Given the description of an element on the screen output the (x, y) to click on. 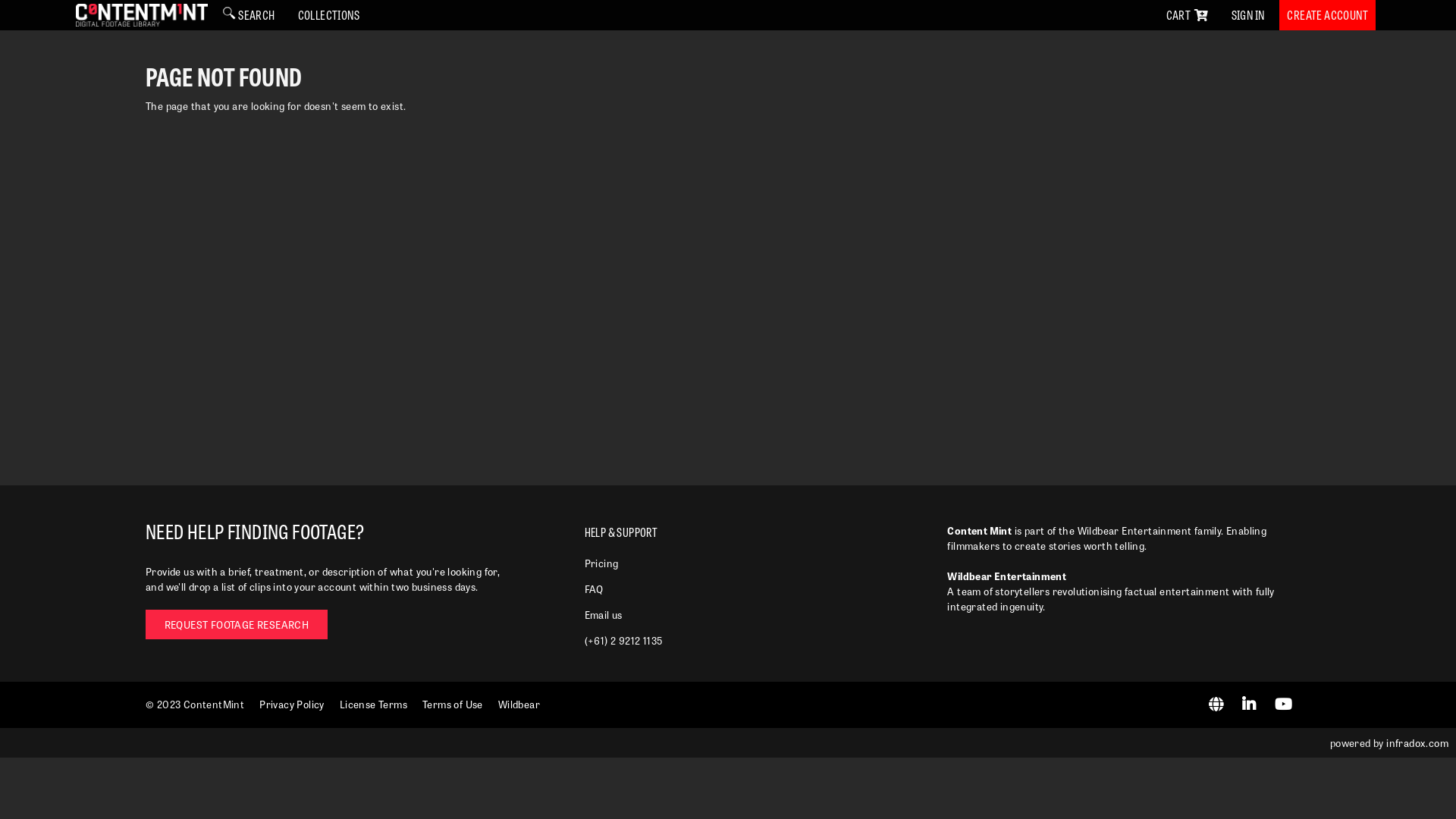
CART Element type: text (1187, 14)
Email us Element type: text (603, 614)
https://www.contentmint.com.au Element type: hover (1217, 705)
https://au.linkedin.com/company/wildbear-entertainment Element type: hover (1250, 705)
infradox.com Element type: text (1417, 742)
SEARCH Element type: text (248, 14)
COLLECTIONS Element type: text (328, 14)
REQUEST FOOTAGE RESEARCH Element type: text (236, 624)
License Terms Element type: text (373, 703)
https://www.youtube.com/@wildvisuals Element type: hover (1284, 705)
CREATE ACCOUNT Element type: text (1327, 14)
Content Mint Element type: hover (141, 14)
Privacy Policy Element type: text (291, 703)
Pricing Element type: text (601, 562)
Terms of Use Element type: text (452, 703)
Wildbear Element type: text (518, 703)
FAQ Element type: text (593, 588)
SIGN IN Element type: text (1247, 14)
